Given the description of an element on the screen output the (x, y) to click on. 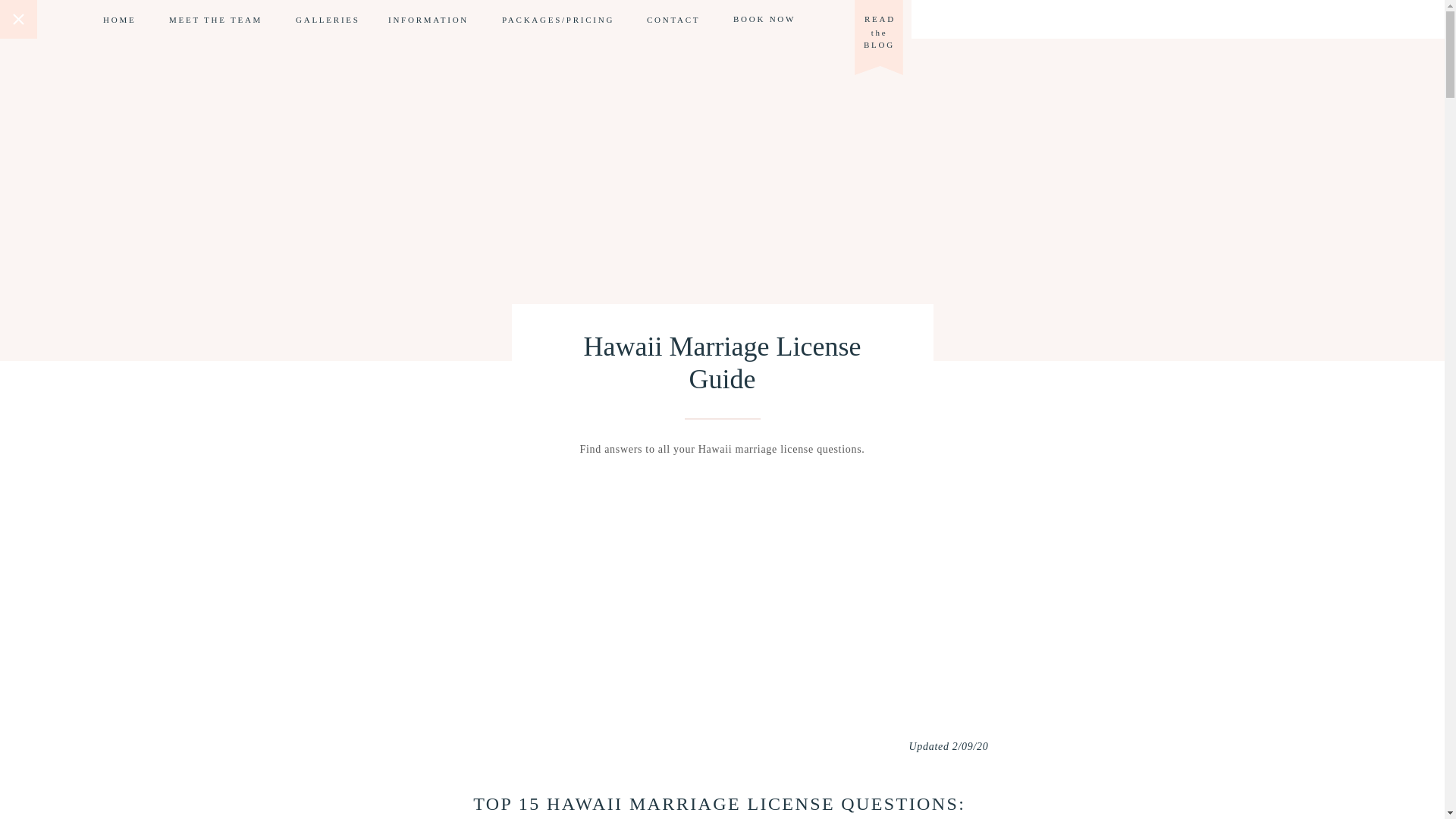
INFORMATION (429, 19)
MEET THE TEAM (216, 19)
HOME (120, 19)
BOOK NOW (770, 19)
GALLERIES (325, 19)
CONTACT (673, 19)
